Given the description of an element on the screen output the (x, y) to click on. 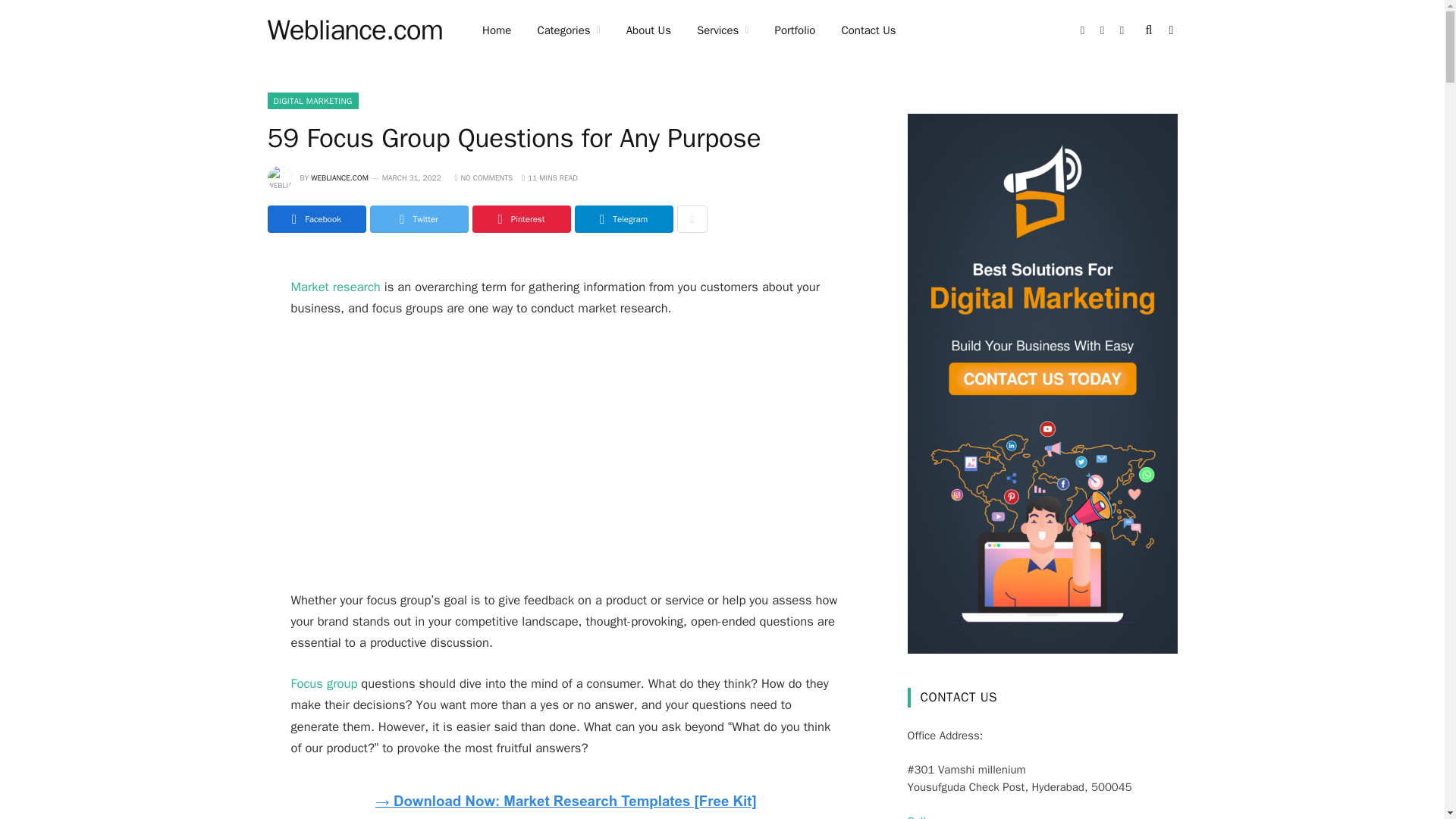
Share on Facebook (315, 218)
About Us (648, 30)
Home (496, 30)
webliance blog (354, 30)
Posts by webliance.com (339, 177)
Services (722, 30)
Categories (568, 30)
Webliance.com (354, 30)
Switch to Dark Design - easier on eyes. (1168, 30)
Share on Pinterest (520, 218)
